Given the description of an element on the screen output the (x, y) to click on. 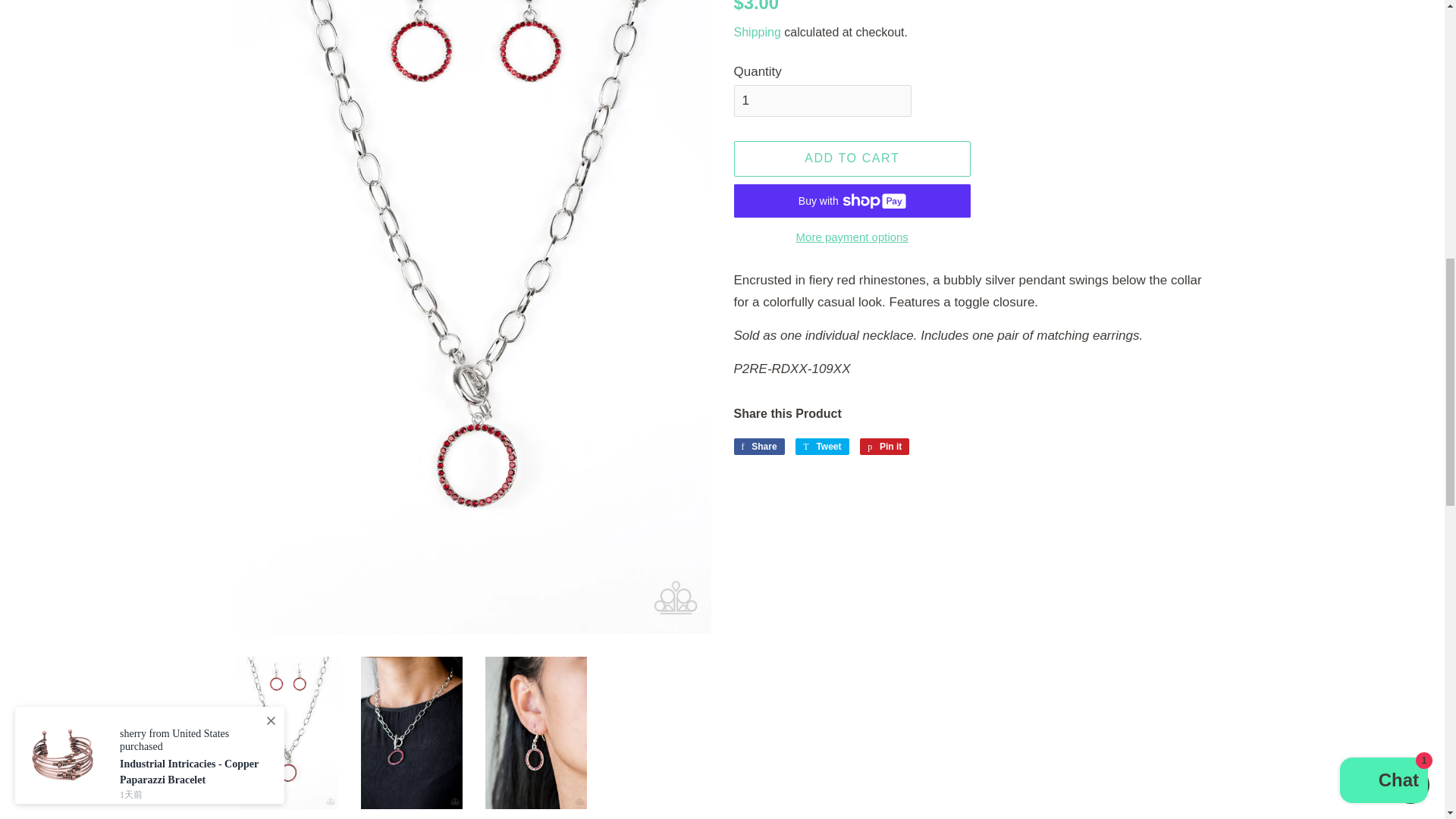
Pin on Pinterest (884, 446)
1 (822, 101)
Share on Facebook (758, 446)
Tweet on Twitter (821, 446)
